Given the description of an element on the screen output the (x, y) to click on. 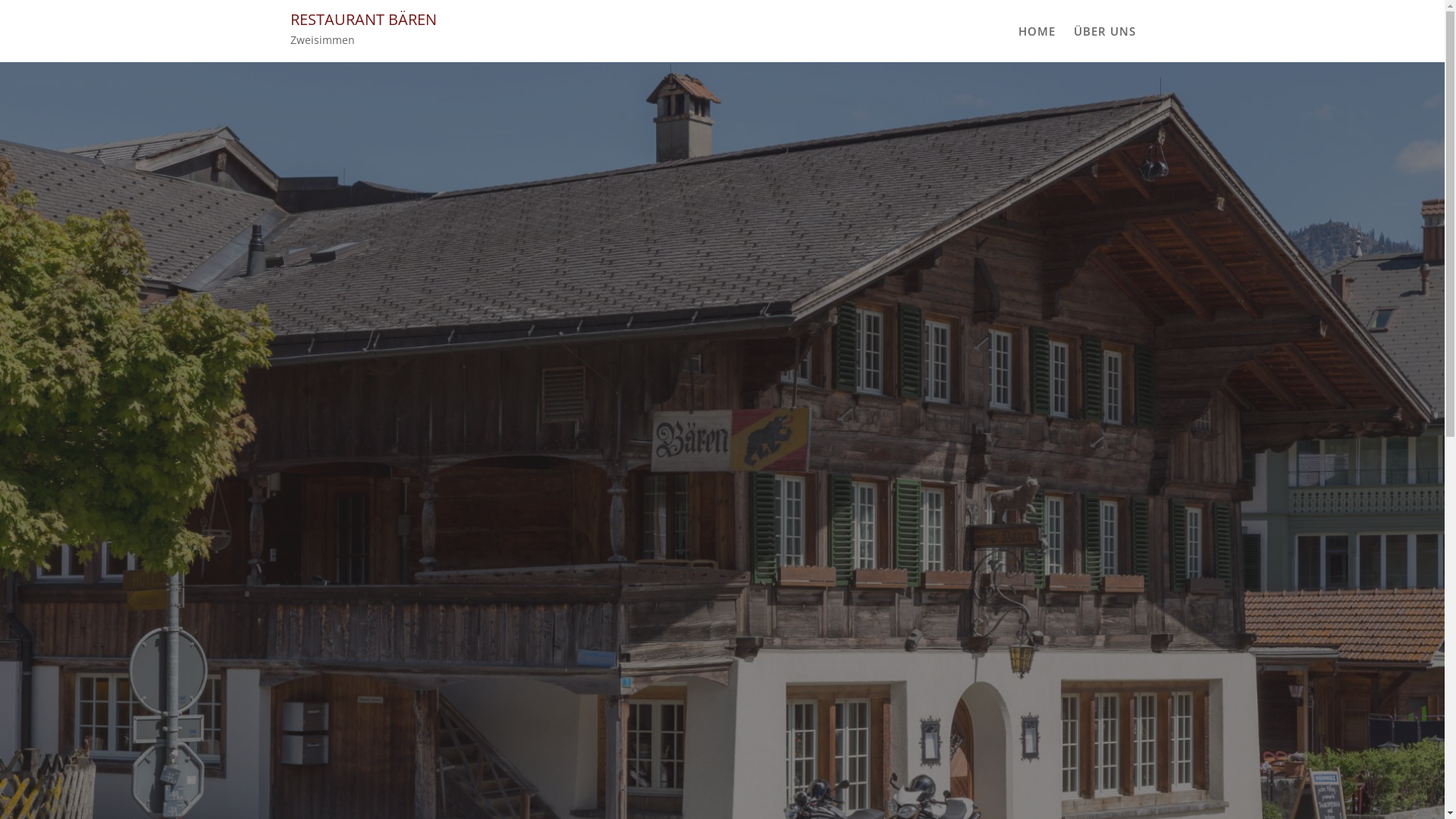
HOME Element type: text (1036, 30)
